Given the description of an element on the screen output the (x, y) to click on. 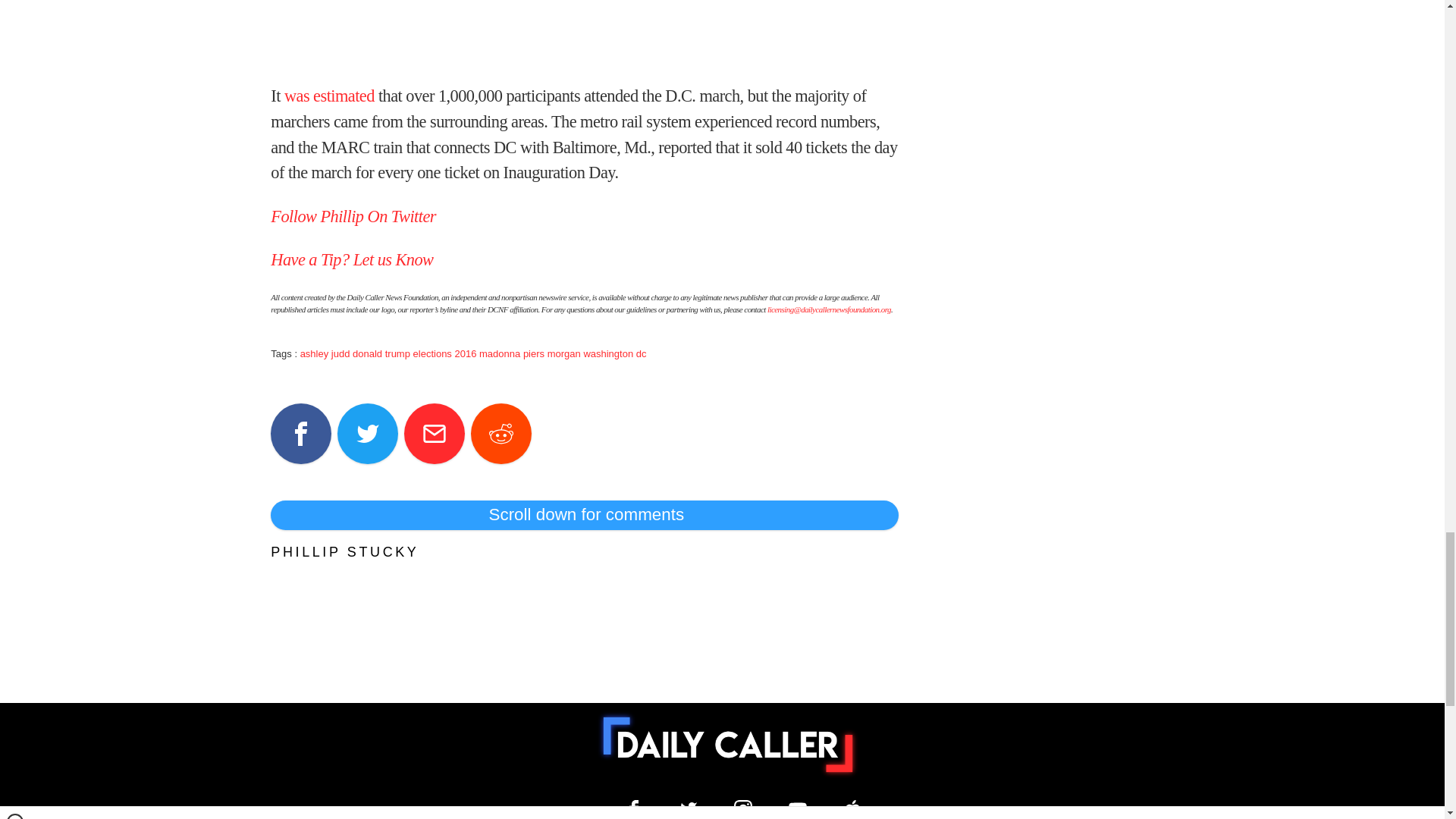
was estimated (328, 95)
To home page (727, 744)
Daily Caller Instagram (742, 809)
Daily Caller YouTube (852, 809)
Daily Caller Facebook (633, 809)
Scroll down for comments (584, 514)
Daily Caller YouTube (797, 809)
Daily Caller Twitter (688, 809)
